Given the description of an element on the screen output the (x, y) to click on. 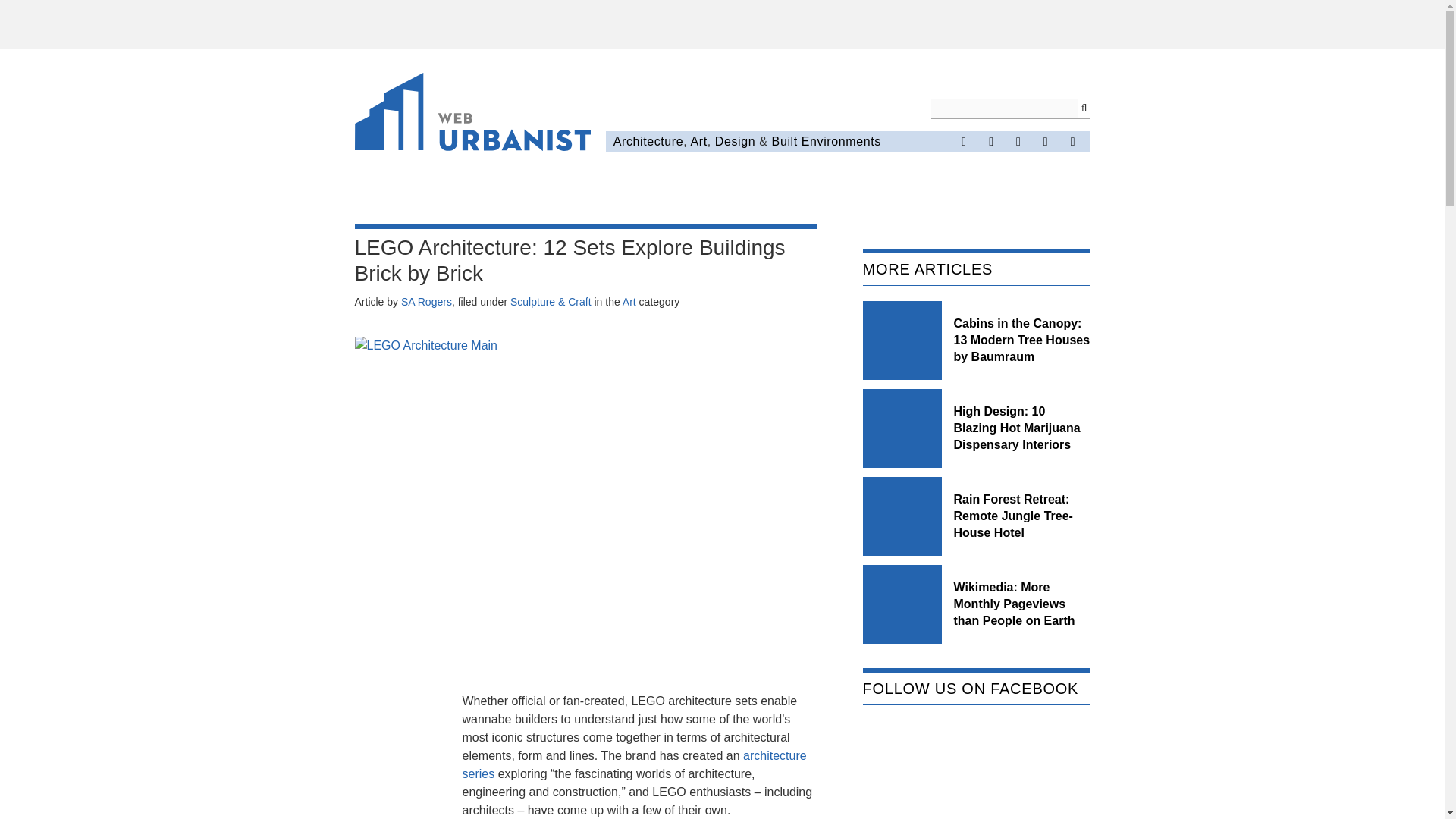
Follow Us on Twitter! (990, 141)
Built (784, 141)
Design (734, 141)
architecture series (634, 764)
Art (629, 301)
Check Out Posts on Pinterest! (1018, 141)
SA Rogers (426, 301)
Become a Fan on Facebook! (963, 141)
Architecture (648, 141)
Environments (841, 141)
